Given the description of an element on the screen output the (x, y) to click on. 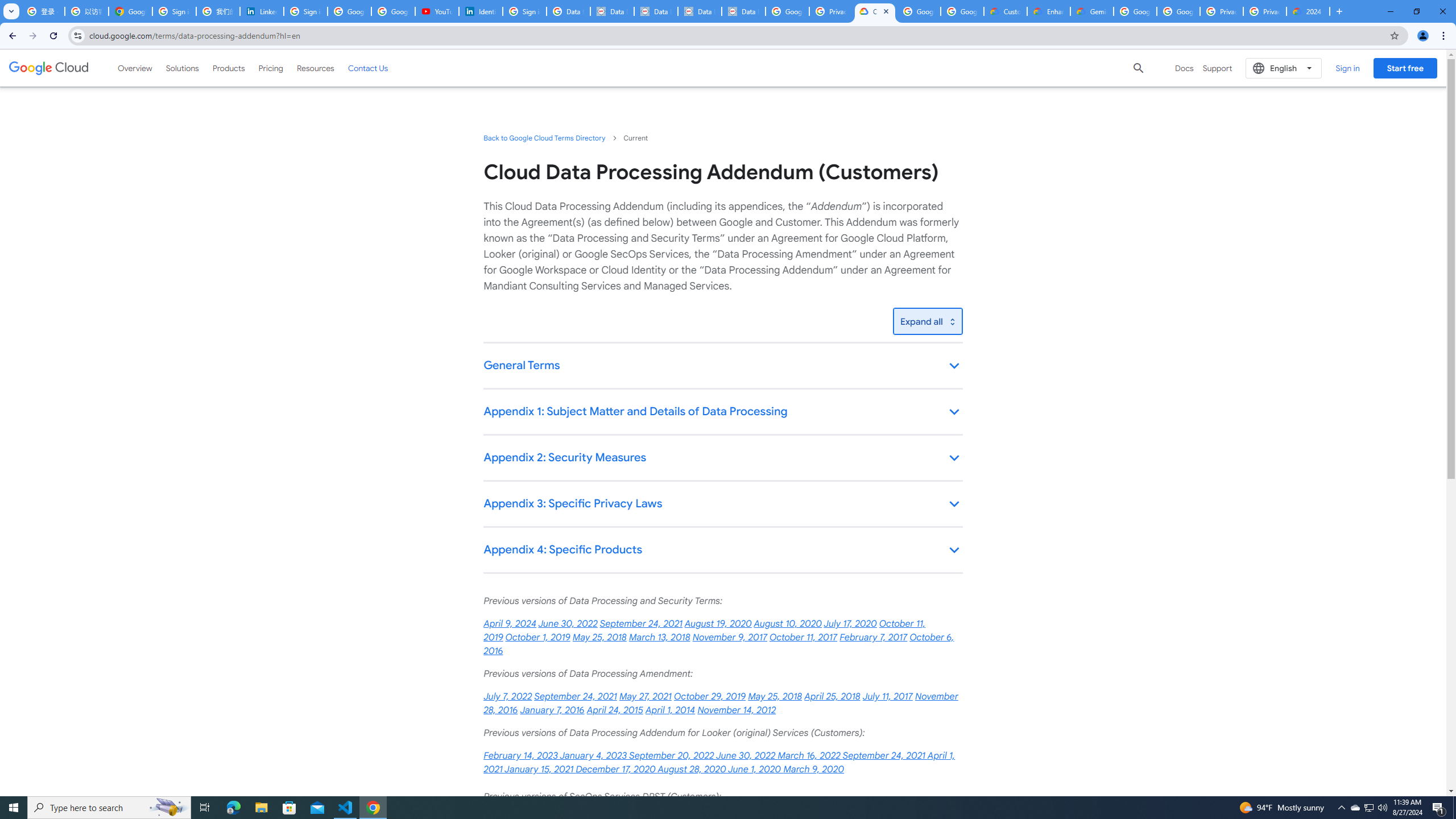
LinkedIn Privacy Policy (261, 11)
Sign in - Google Accounts (305, 11)
Appendix 3: Specific Privacy Laws keyboard_arrow_down (722, 504)
Pricing (270, 67)
May 27, 2021 (644, 696)
Google Workspace - Specific Terms (918, 11)
April 9, 2024 (510, 623)
July 7, 2022 (507, 696)
Data Privacy Framework (699, 11)
July 17, 2020 (850, 623)
